Given the description of an element on the screen output the (x, y) to click on. 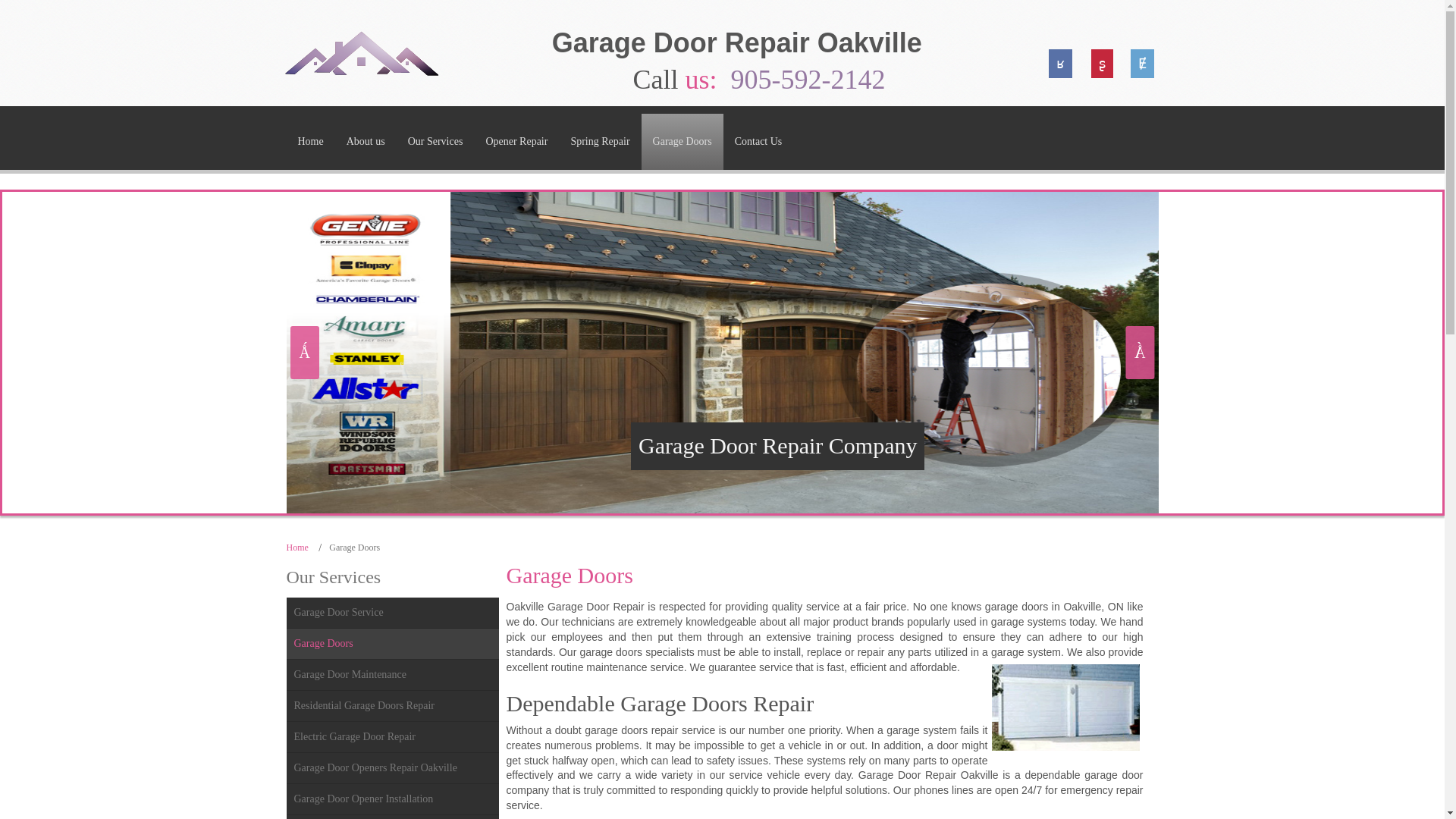
Spring Repair (599, 141)
Garage Doors (682, 141)
905-592-2142 (807, 79)
Contact Us (758, 141)
Opener Repair (516, 141)
About us (365, 141)
Our Services (435, 141)
